Given the description of an element on the screen output the (x, y) to click on. 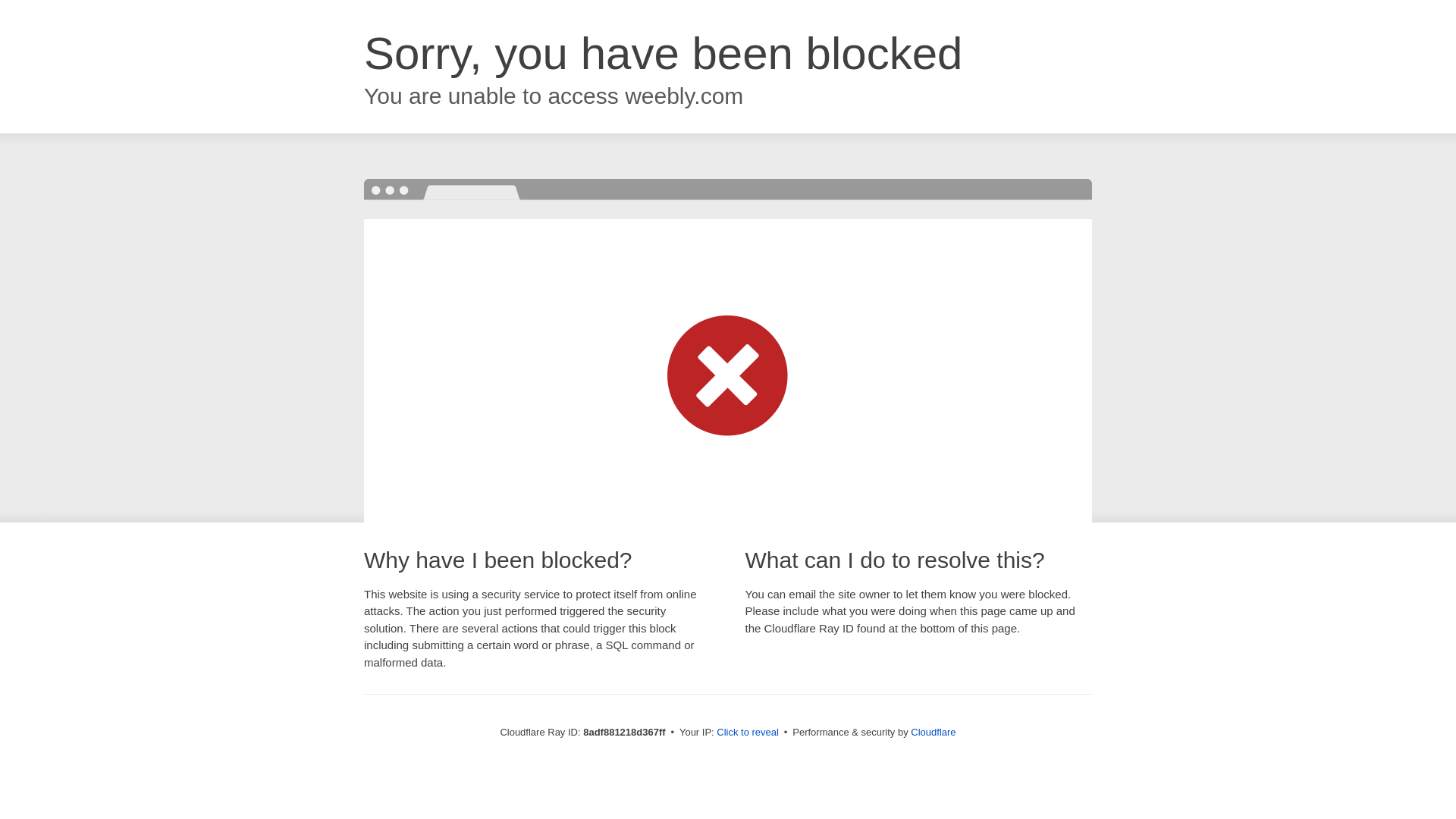
Click to reveal (747, 732)
Cloudflare (933, 731)
